Given the description of an element on the screen output the (x, y) to click on. 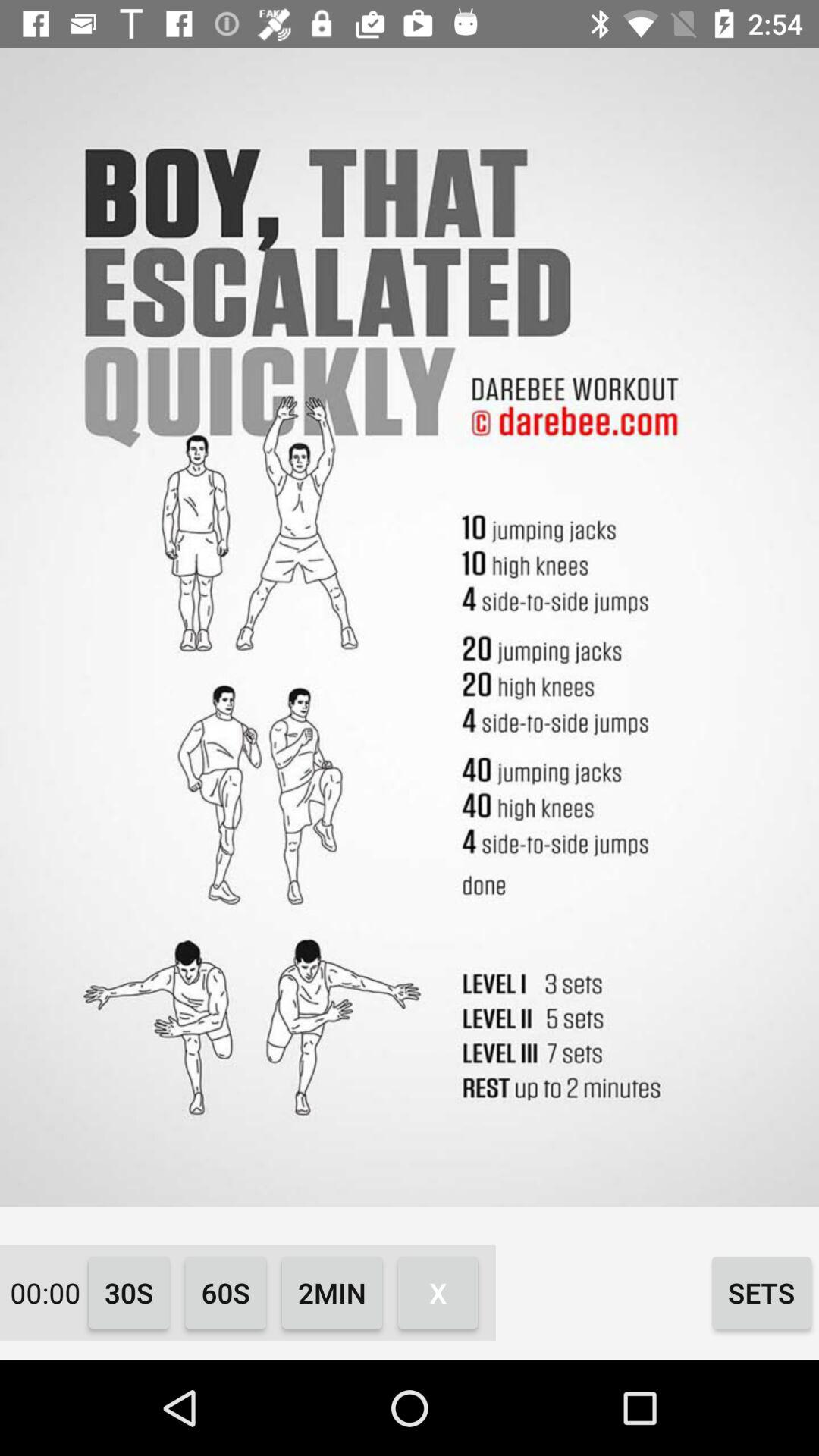
tap icon next to 60s icon (128, 1292)
